Given the description of an element on the screen output the (x, y) to click on. 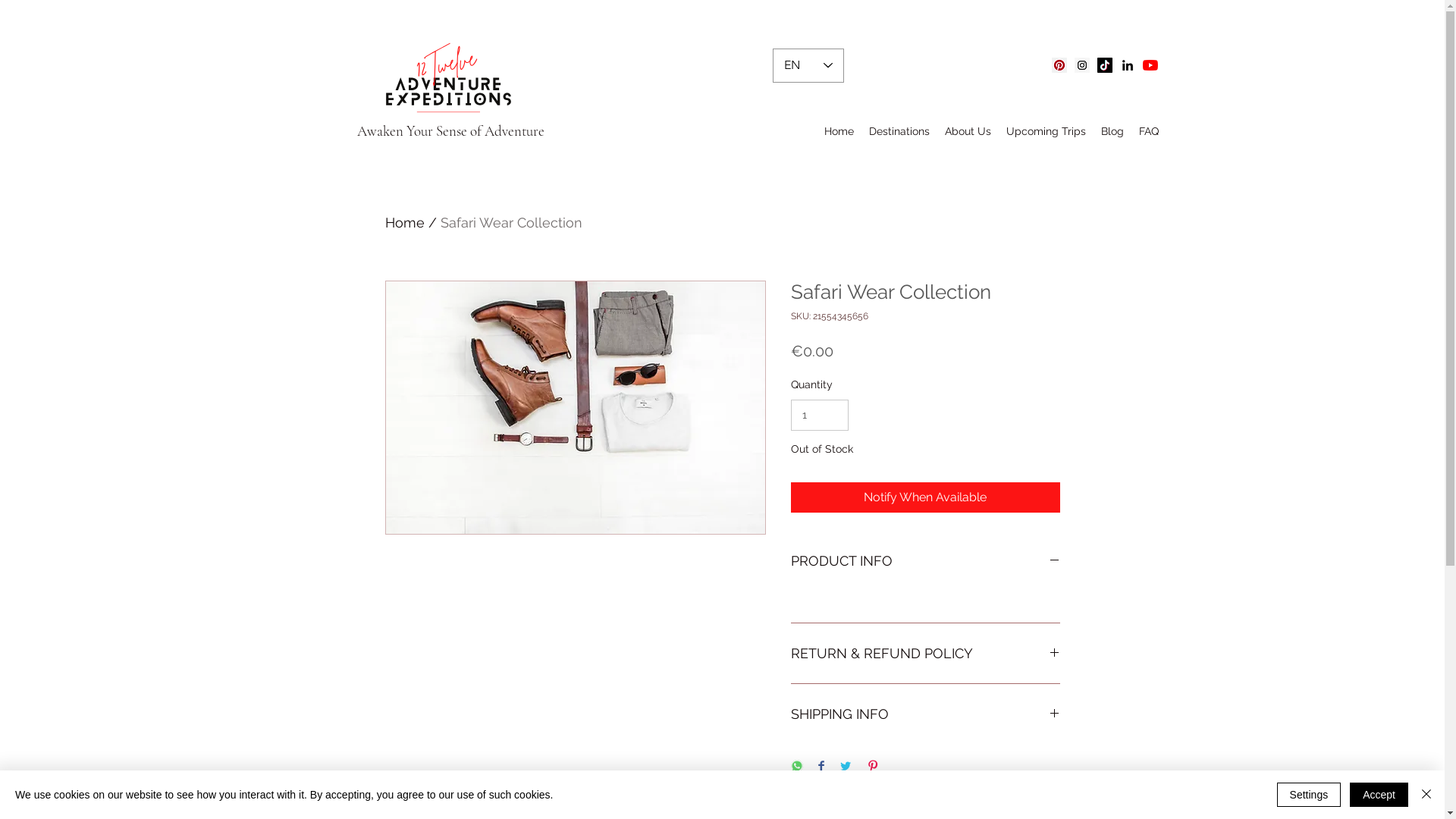
Settings Element type: text (1309, 794)
FAQ Element type: text (1148, 130)
About Us Element type: text (967, 130)
Home Element type: text (837, 130)
RETURN & REFUND POLICY Element type: text (924, 653)
Notify When Available Element type: text (924, 497)
Safari Wear Collection Element type: text (510, 222)
Upcoming Trips Element type: text (1044, 130)
Destinations Element type: text (899, 130)
Blog Element type: text (1112, 130)
Accept Element type: text (1378, 794)
SHIPPING INFO Element type: text (924, 714)
Home Element type: text (404, 222)
PRODUCT INFO Element type: text (924, 561)
